Given the description of an element on the screen output the (x, y) to click on. 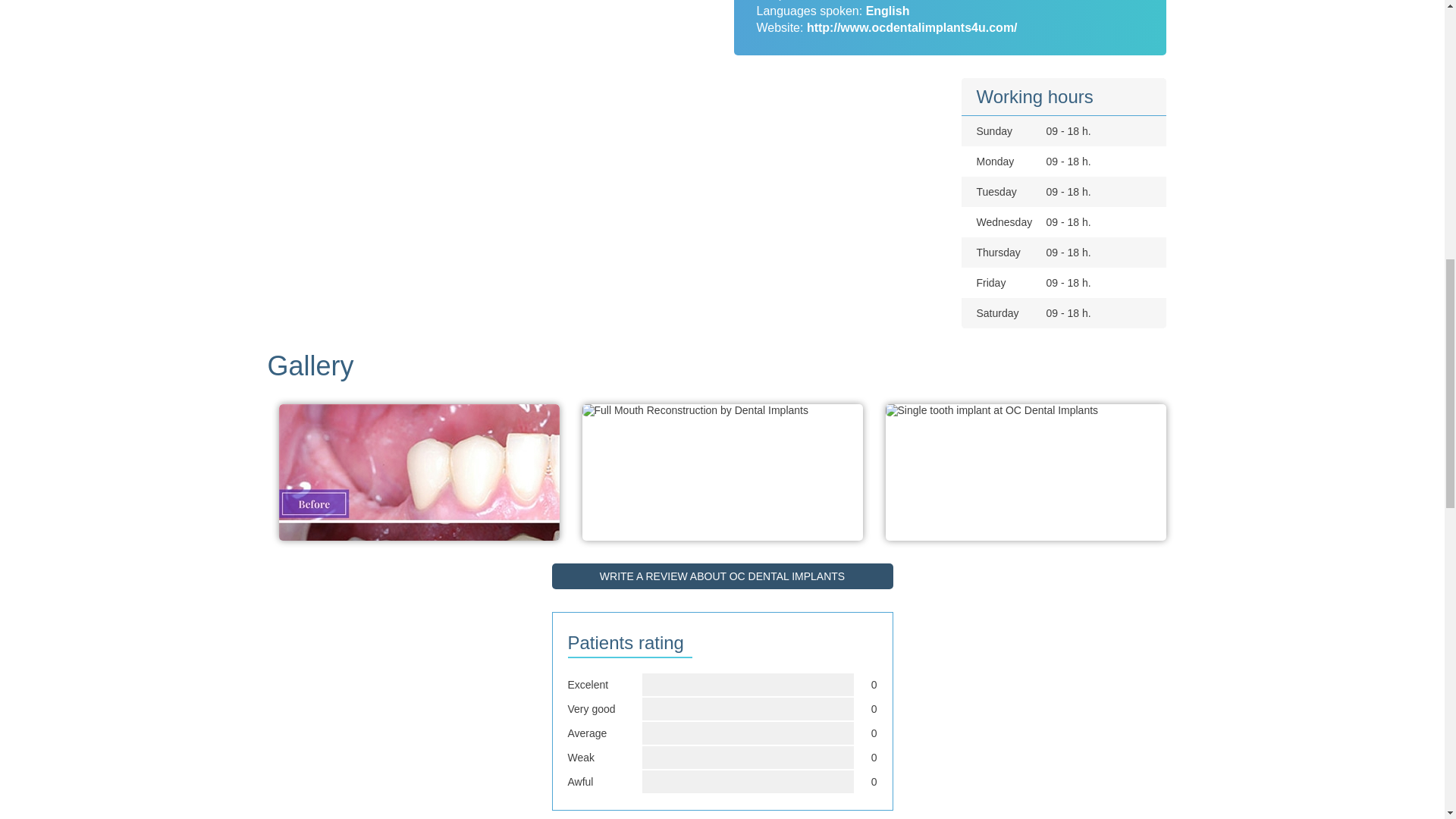
Treatment for Missing Teeth (419, 521)
Single tooth implant at OC Dental Implants (992, 410)
WRITE A REVIEW ABOUT OC DENTAL IMPLANTS (722, 575)
Full Mouth Reconstruction by Dental Implants (695, 410)
